Given the description of an element on the screen output the (x, y) to click on. 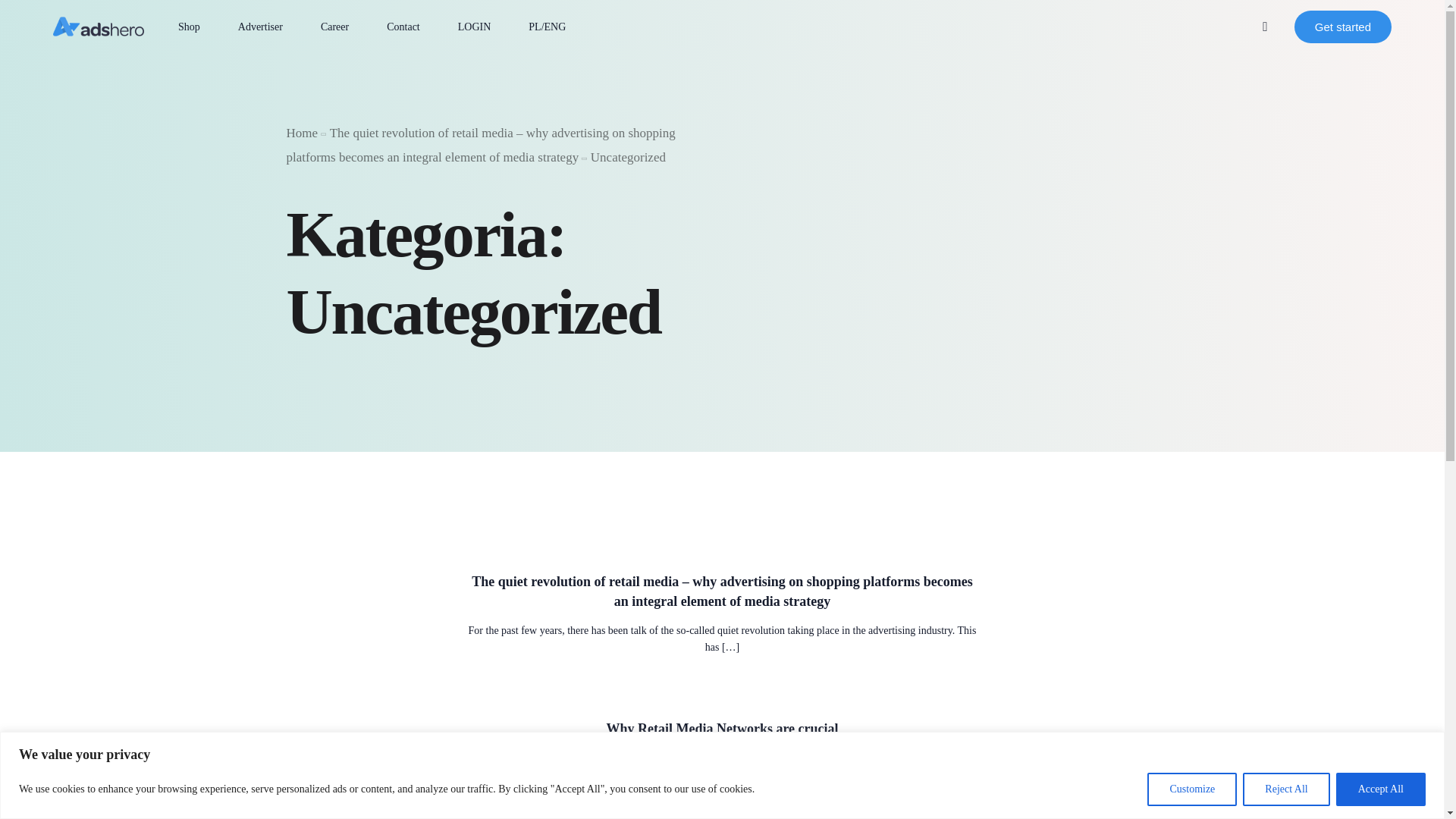
Accept All (1380, 788)
Shop (188, 27)
Get started (1342, 26)
View Post: Why Retail Media Networks are crucial  (721, 728)
Home (302, 133)
Why Retail Media Networks are crucial (721, 728)
LOGIN (475, 27)
Contact (403, 27)
Uncategorized (628, 156)
Advertiser (260, 27)
Career (334, 27)
Customize (1191, 788)
Reject All (1286, 788)
